Given the description of an element on the screen output the (x, y) to click on. 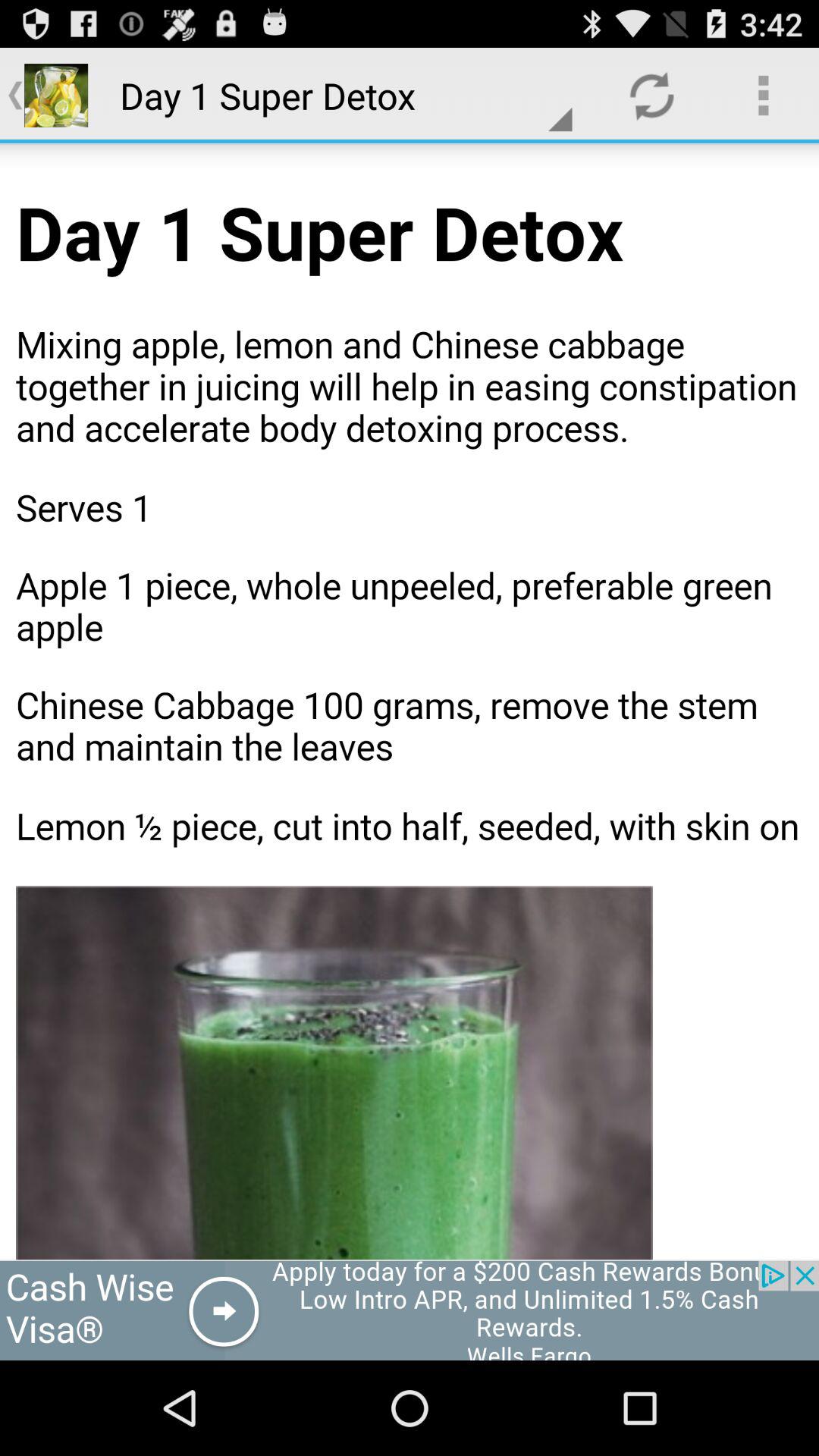
day 1 super detox recipe (409, 701)
